Given the description of an element on the screen output the (x, y) to click on. 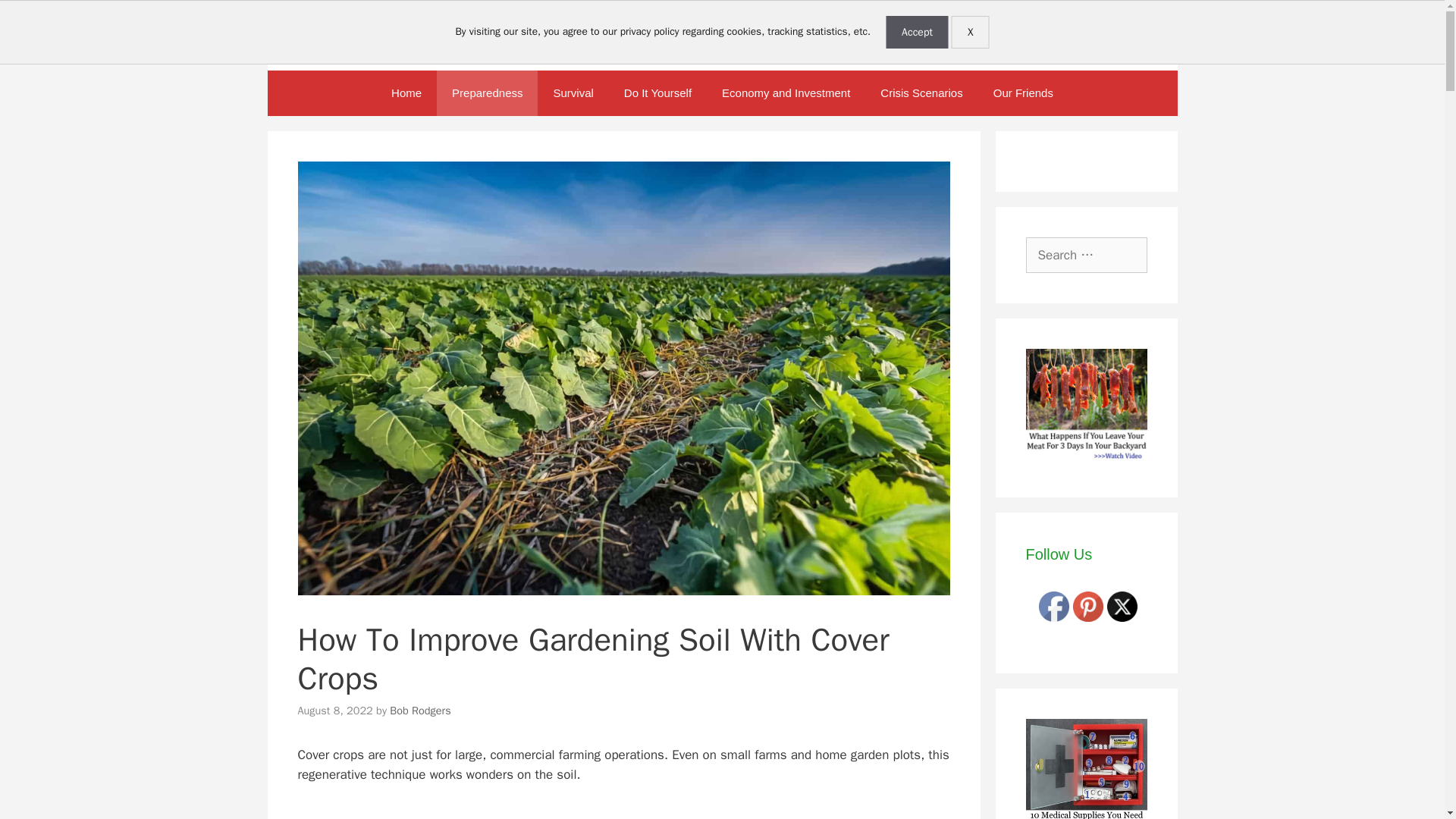
Crisis Scenarios (920, 92)
Preparedness (486, 92)
Facebook (1053, 606)
lostrecipeb2 (1086, 407)
homedoctorb2 (1086, 769)
Bob Rodgers (419, 710)
Twitter (1121, 606)
Our Friends (1023, 92)
Home (405, 92)
X (971, 31)
Accept (917, 31)
Economy and Investment (785, 92)
Pinterest (1088, 606)
View all posts by Bob Rodgers (419, 710)
Search for: (1086, 254)
